Given the description of an element on the screen output the (x, y) to click on. 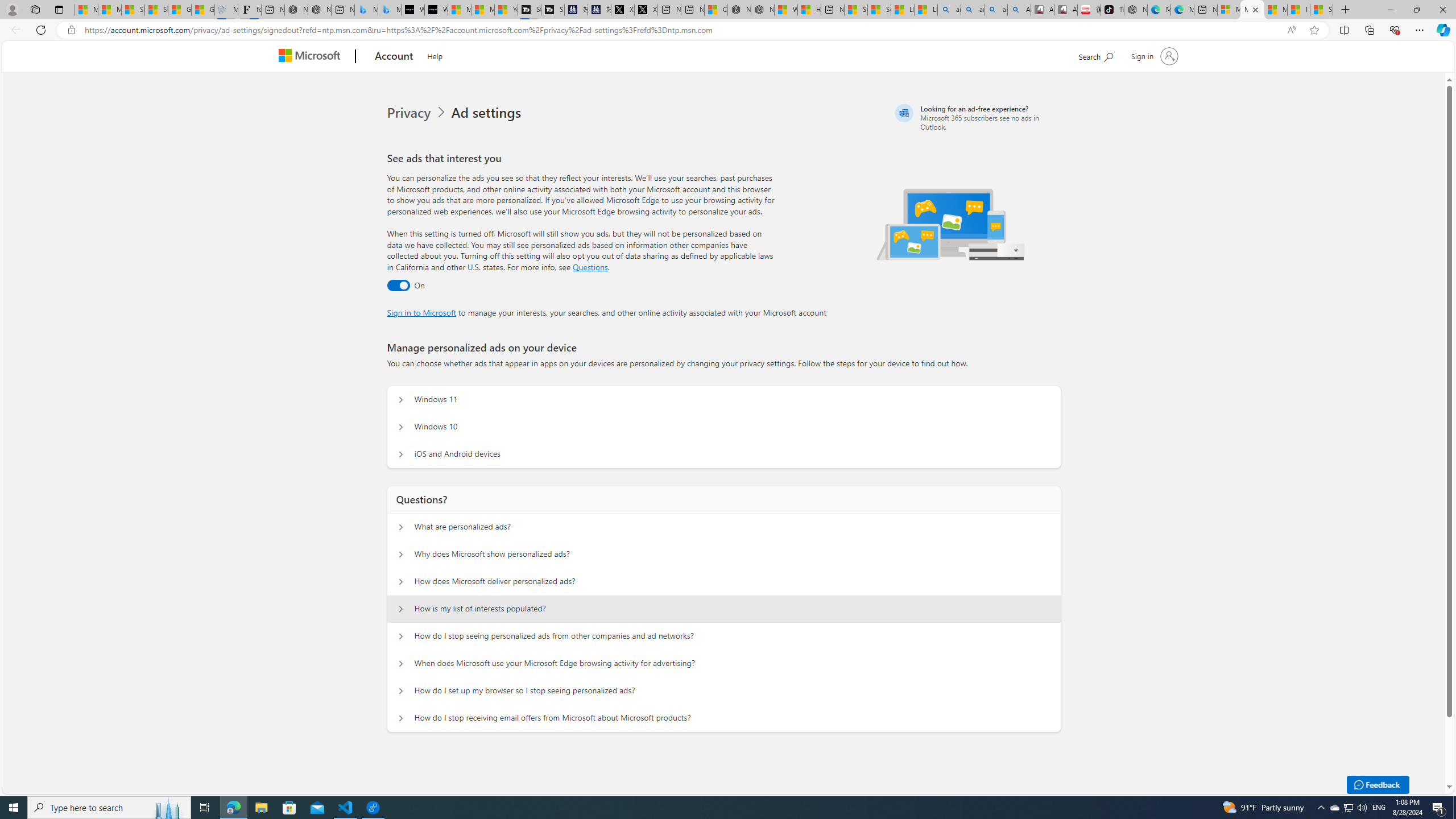
All Cubot phones (1065, 9)
Gilma and Hector both pose tropical trouble for Hawaii (202, 9)
Manage personalized ads on your device Windows 11 (401, 400)
Microsoft (311, 56)
Sign in to Microsoft (422, 311)
amazon - Search (972, 9)
Amazon Echo Robot - Search Images (1019, 9)
